Given the description of an element on the screen output the (x, y) to click on. 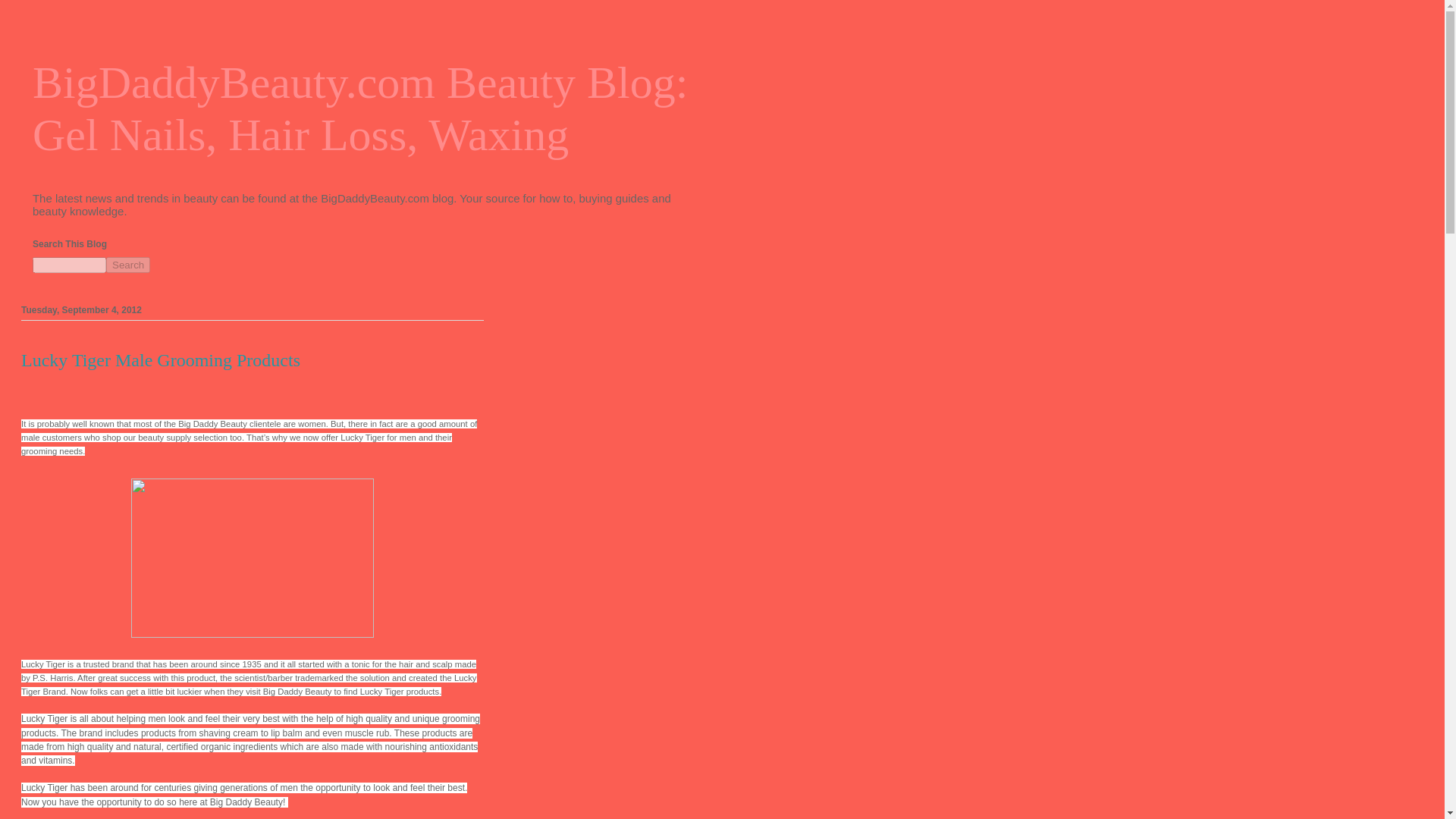
search (127, 264)
Search (127, 264)
BigDaddyBeauty.com Beauty Blog: Gel Nails, Hair Loss, Waxing (359, 108)
Search (127, 264)
Search (127, 264)
search (69, 264)
